Given the description of an element on the screen output the (x, y) to click on. 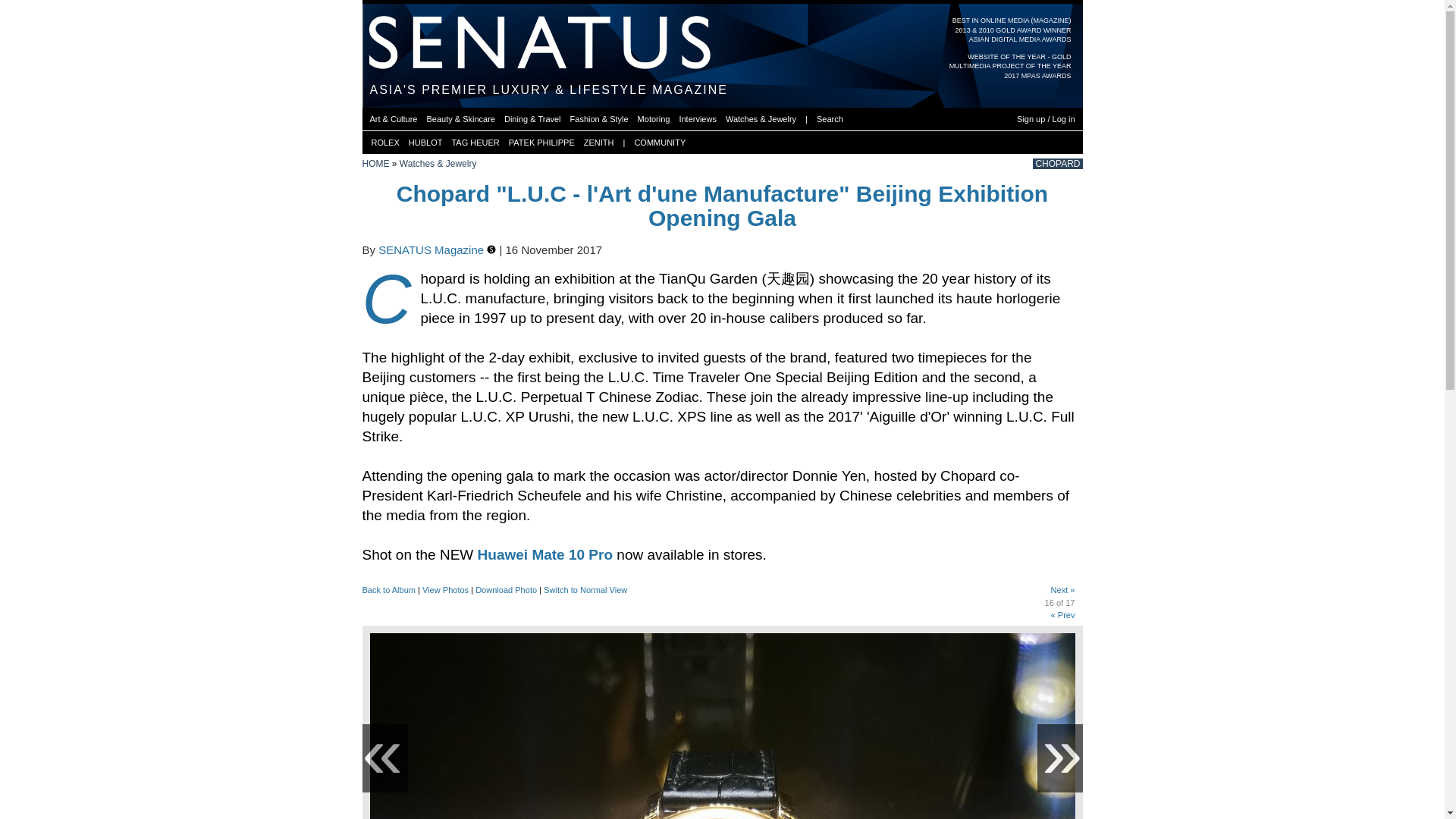
COMMUNITY (659, 142)
TAG HEUER (475, 142)
HOME (376, 163)
Motoring (653, 118)
Huawei Mate 10 Pro (544, 554)
ZENITH (598, 142)
Search (829, 118)
View Photos (445, 589)
ROLEX (385, 142)
PATEK PHILIPPE (541, 142)
HUBLOT (425, 142)
Interviews (697, 118)
Switch to Normal View (585, 589)
Download Photo (507, 589)
